Given the description of an element on the screen output the (x, y) to click on. 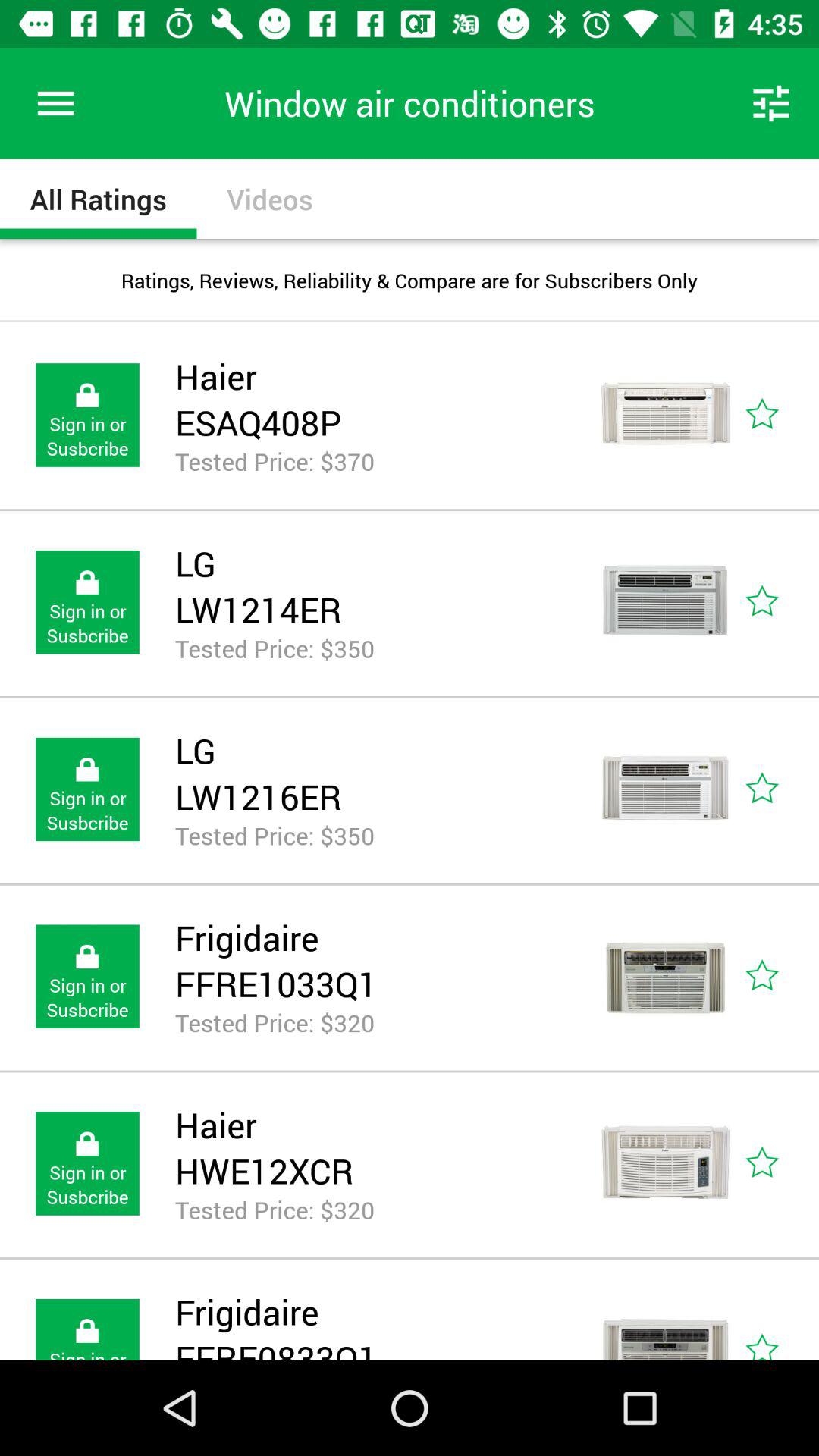
favourite button (779, 976)
